Given the description of an element on the screen output the (x, y) to click on. 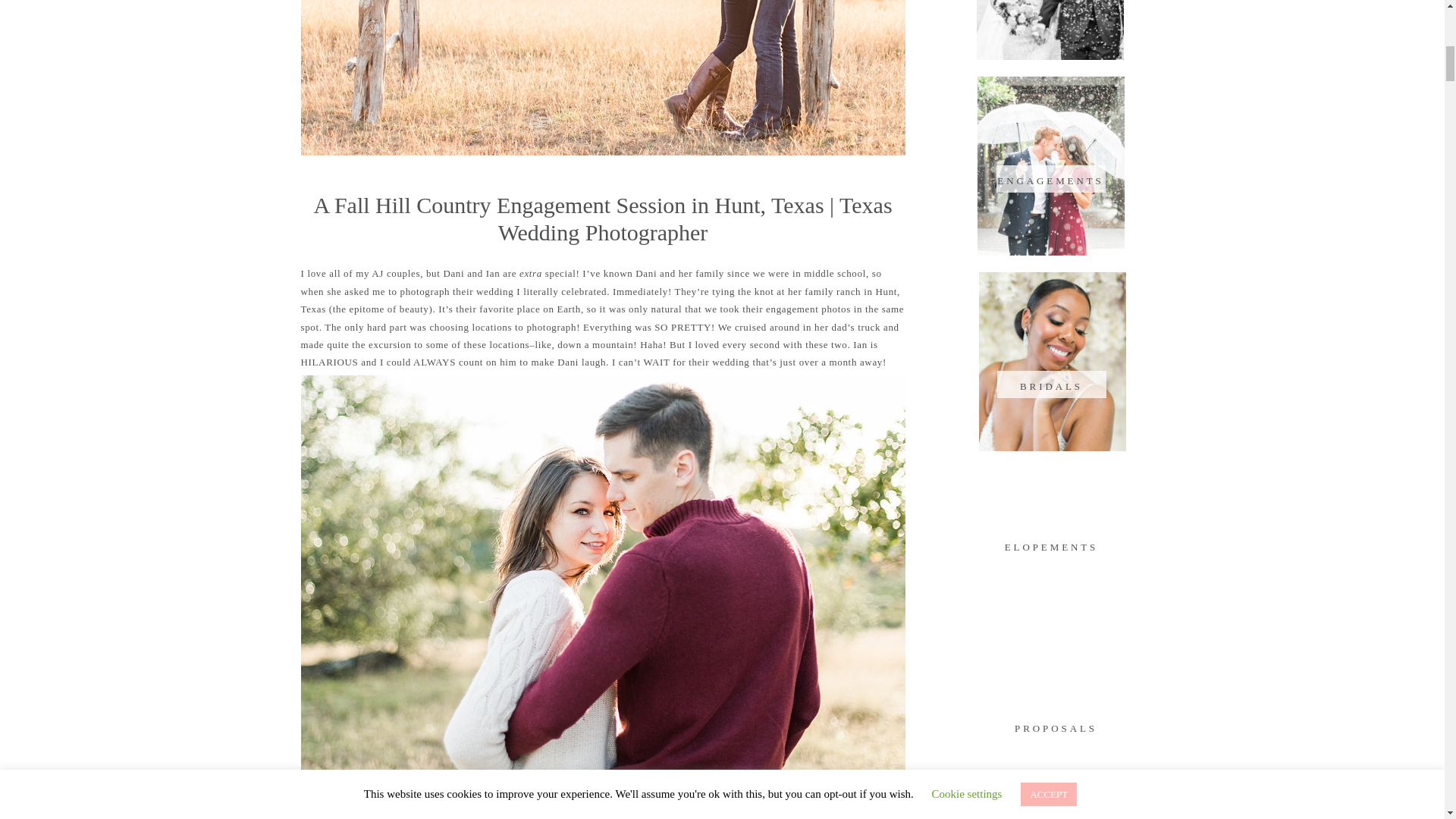
ELOPEMENTS (1051, 545)
PROPOSALS (1056, 726)
BRIDALS (1051, 384)
ENGAGEMENTS (1049, 178)
